Given the description of an element on the screen output the (x, y) to click on. 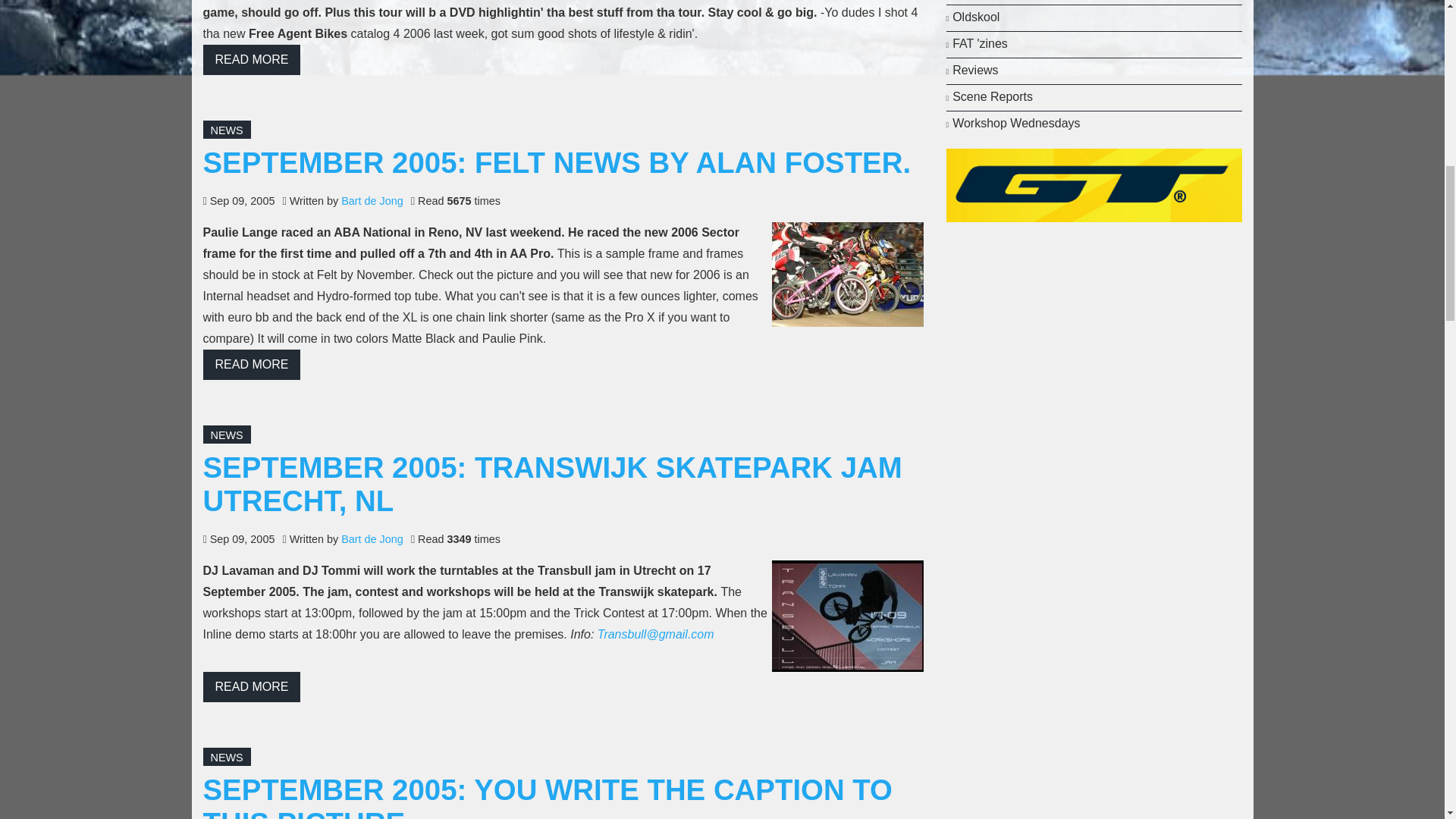
Pink Paulie Lange (847, 273)
READ MORE (252, 60)
Transbull (847, 615)
